Given the description of an element on the screen output the (x, y) to click on. 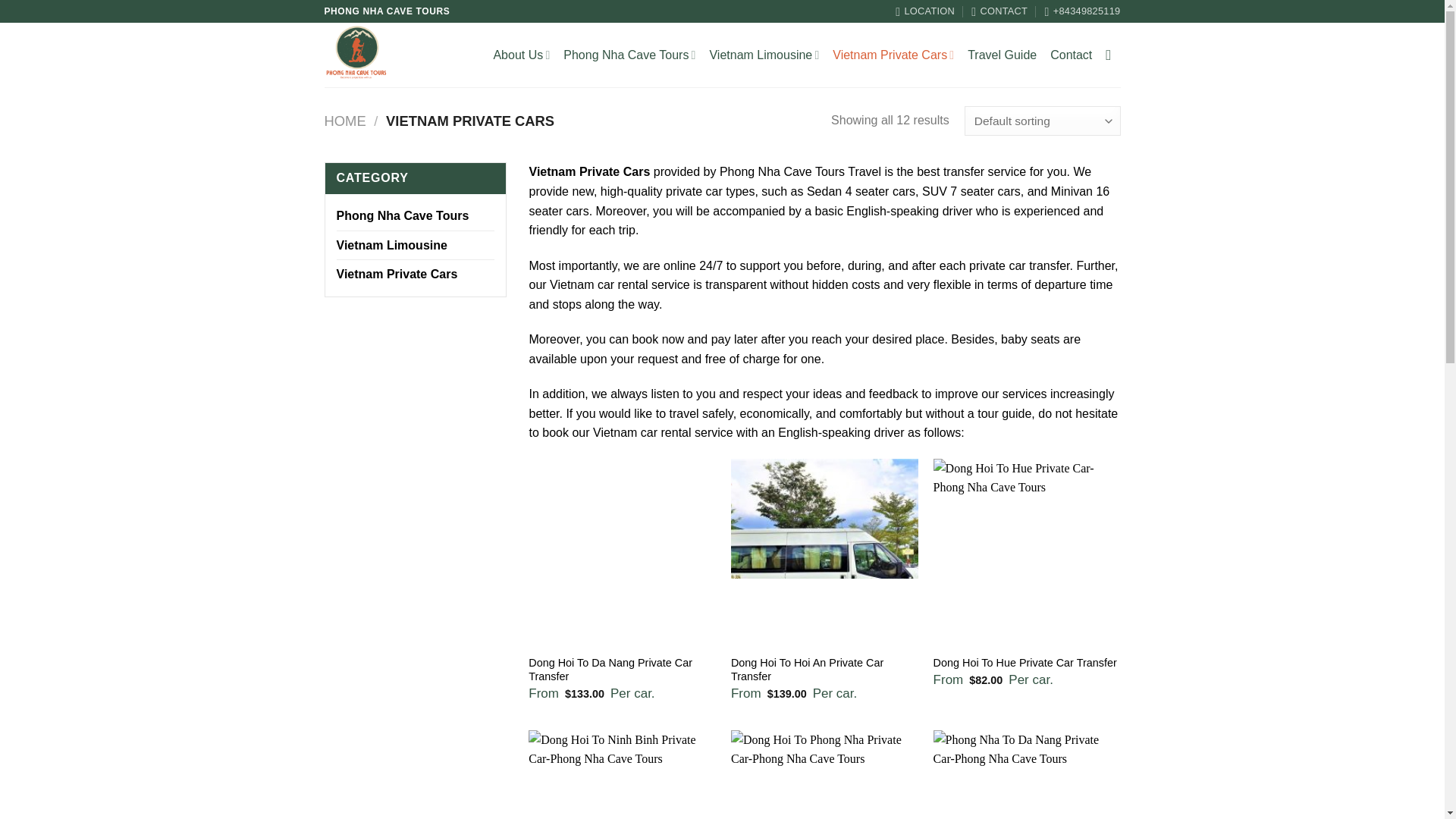
Dong Hoi To Da Nang Private Car Transfer (622, 669)
Vietnam Limousine (415, 245)
CONTACT (999, 11)
Phong Nha Cave Tours (415, 215)
Vietnam Limousine (763, 54)
HOME (345, 120)
Vietnam Private Cars (415, 274)
LOCATION (925, 11)
Travel Guide (1002, 54)
Vietnam Private Cars (892, 54)
Contact (1070, 54)
Phong Nha Cave Tours (629, 54)
About Us (521, 54)
